Given the description of an element on the screen output the (x, y) to click on. 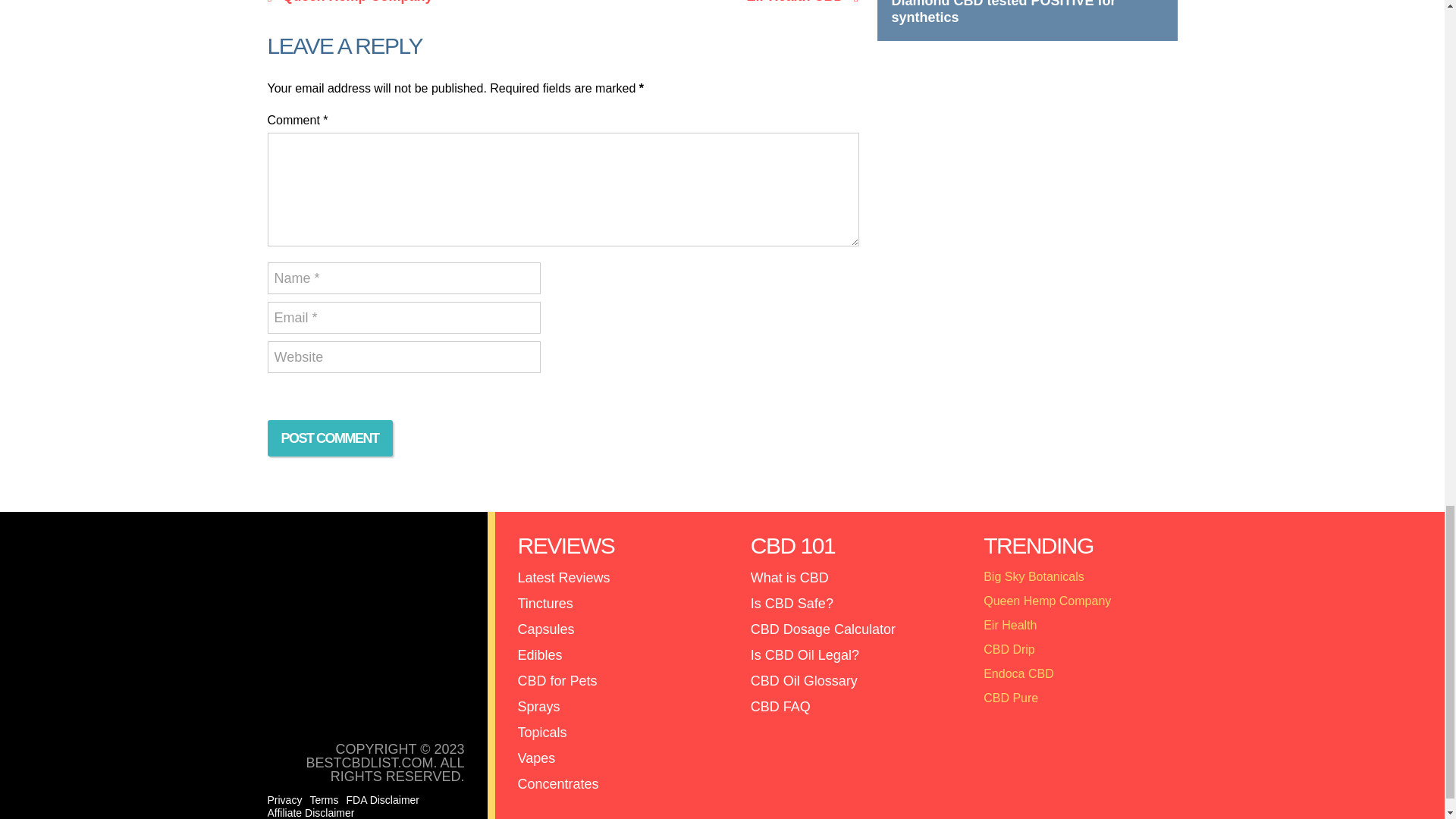
Eir Health CBD (714, 2)
Post Comment (328, 438)
Queen Hemp Company (411, 2)
